Given the description of an element on the screen output the (x, y) to click on. 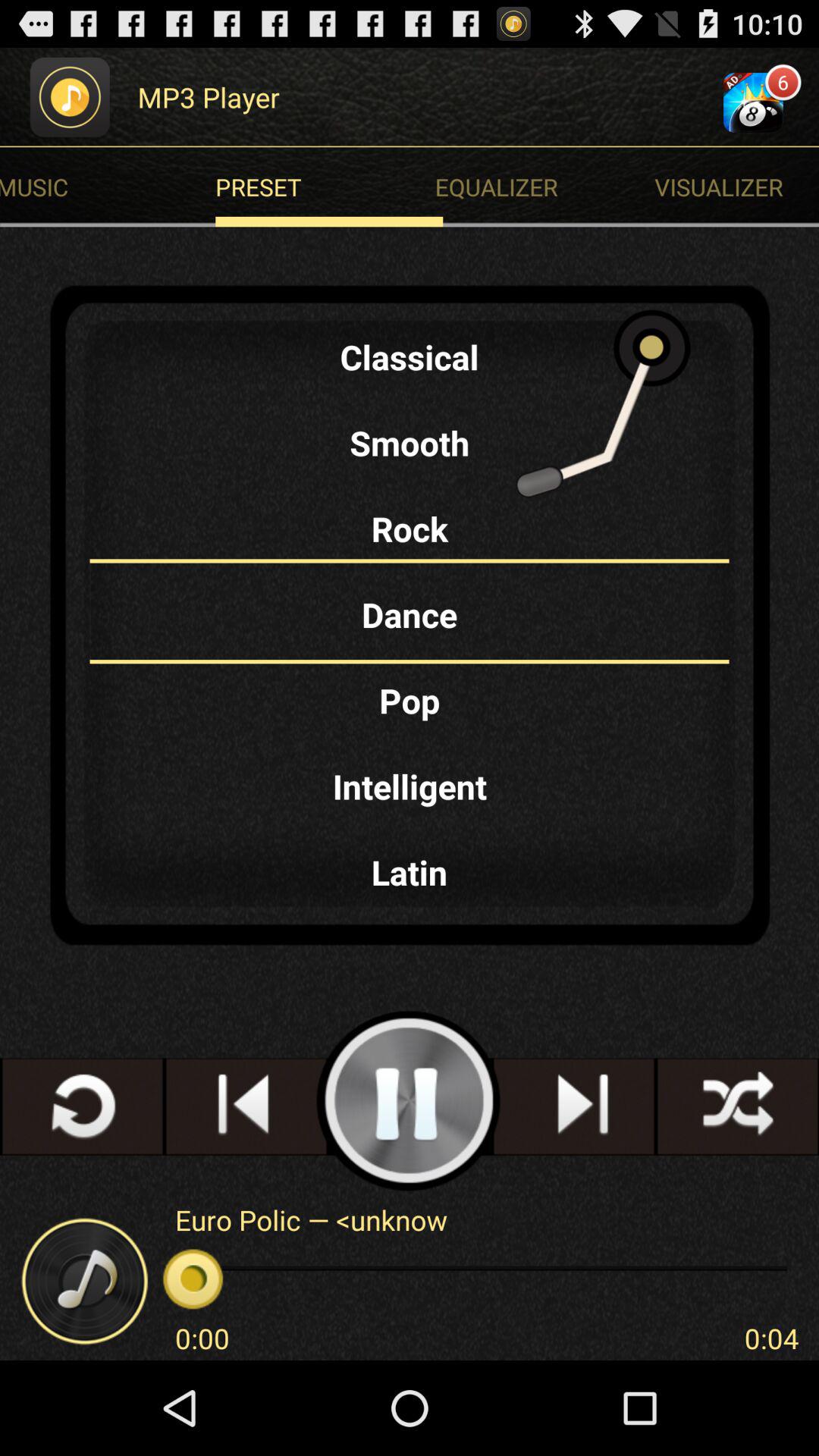
toggle pause (408, 1101)
